Given the description of an element on the screen output the (x, y) to click on. 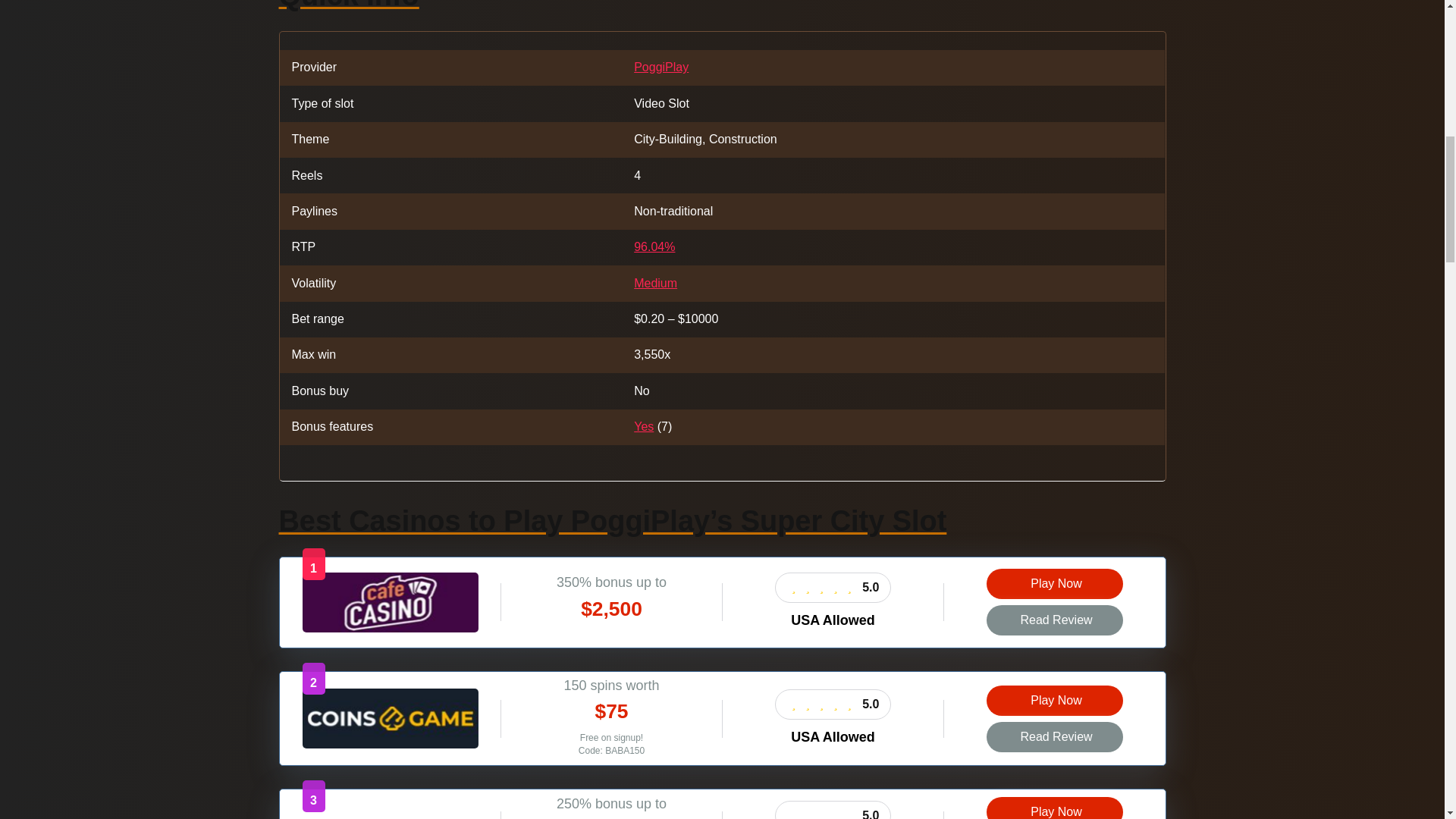
Read Review (1053, 736)
BetUS (389, 818)
Coins Game (389, 744)
Play Now (1053, 583)
Play Now (1053, 807)
Play Now (1053, 700)
Play Now (1053, 700)
Read Review (1053, 620)
Play Now (1053, 807)
Yes (643, 426)
Medium (655, 282)
Read Review (1053, 620)
Cafe Casino (389, 627)
Play Now (1053, 583)
PoggiPlay (660, 66)
